Given the description of an element on the screen output the (x, y) to click on. 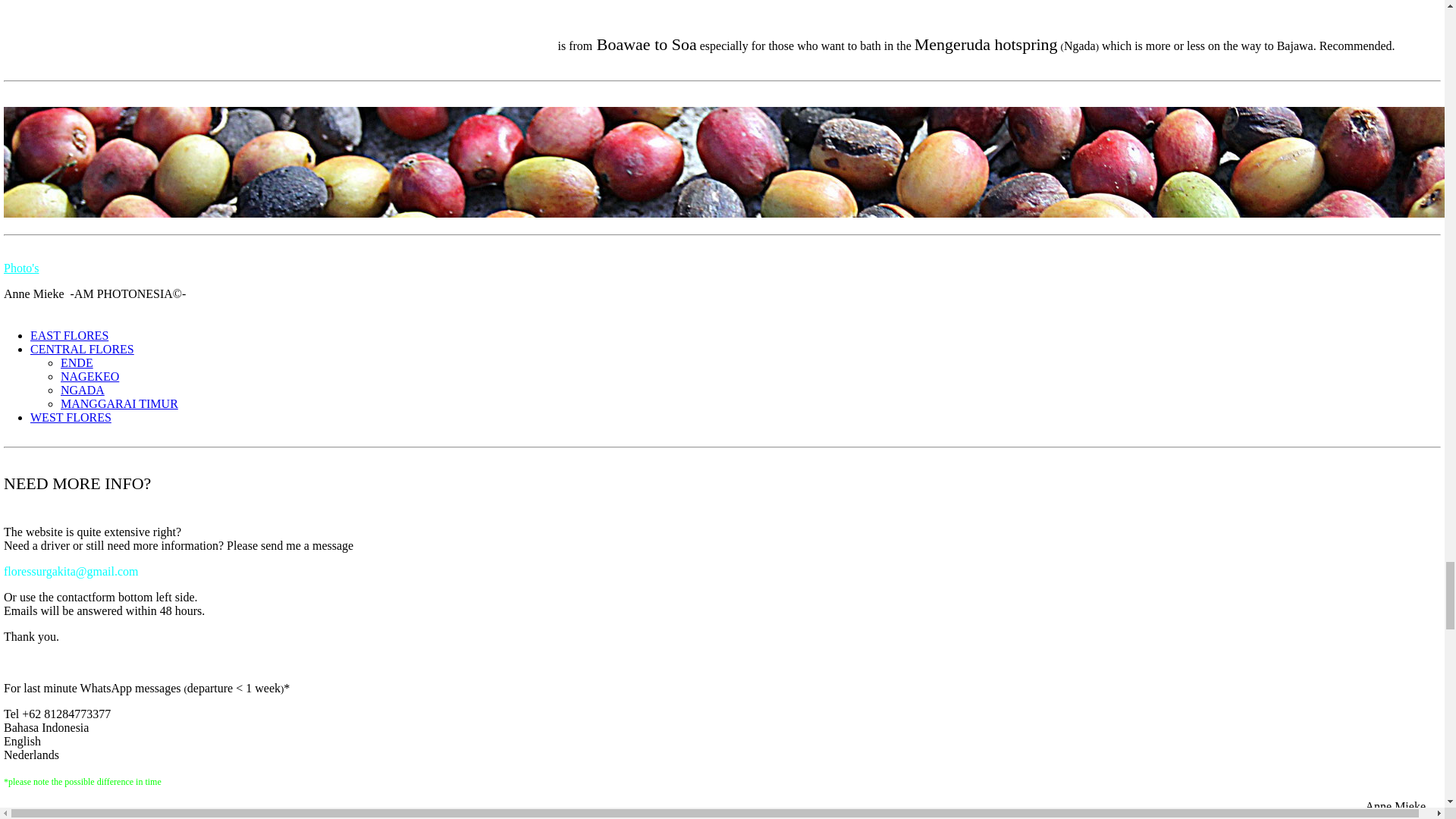
PHOTO'S (21, 267)
